Given the description of an element on the screen output the (x, y) to click on. 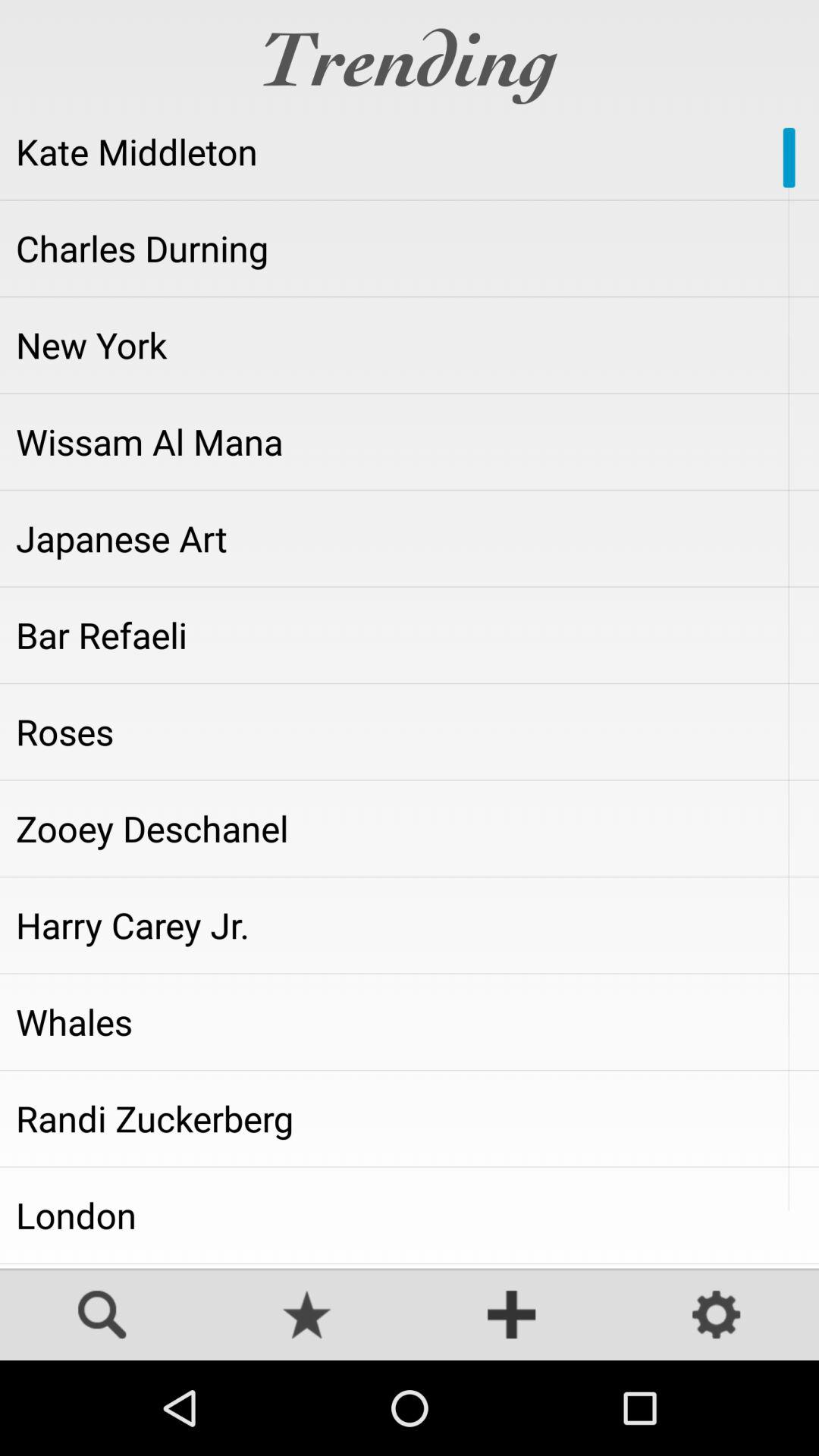
turn off bar refaeli (409, 635)
